Given the description of an element on the screen output the (x, y) to click on. 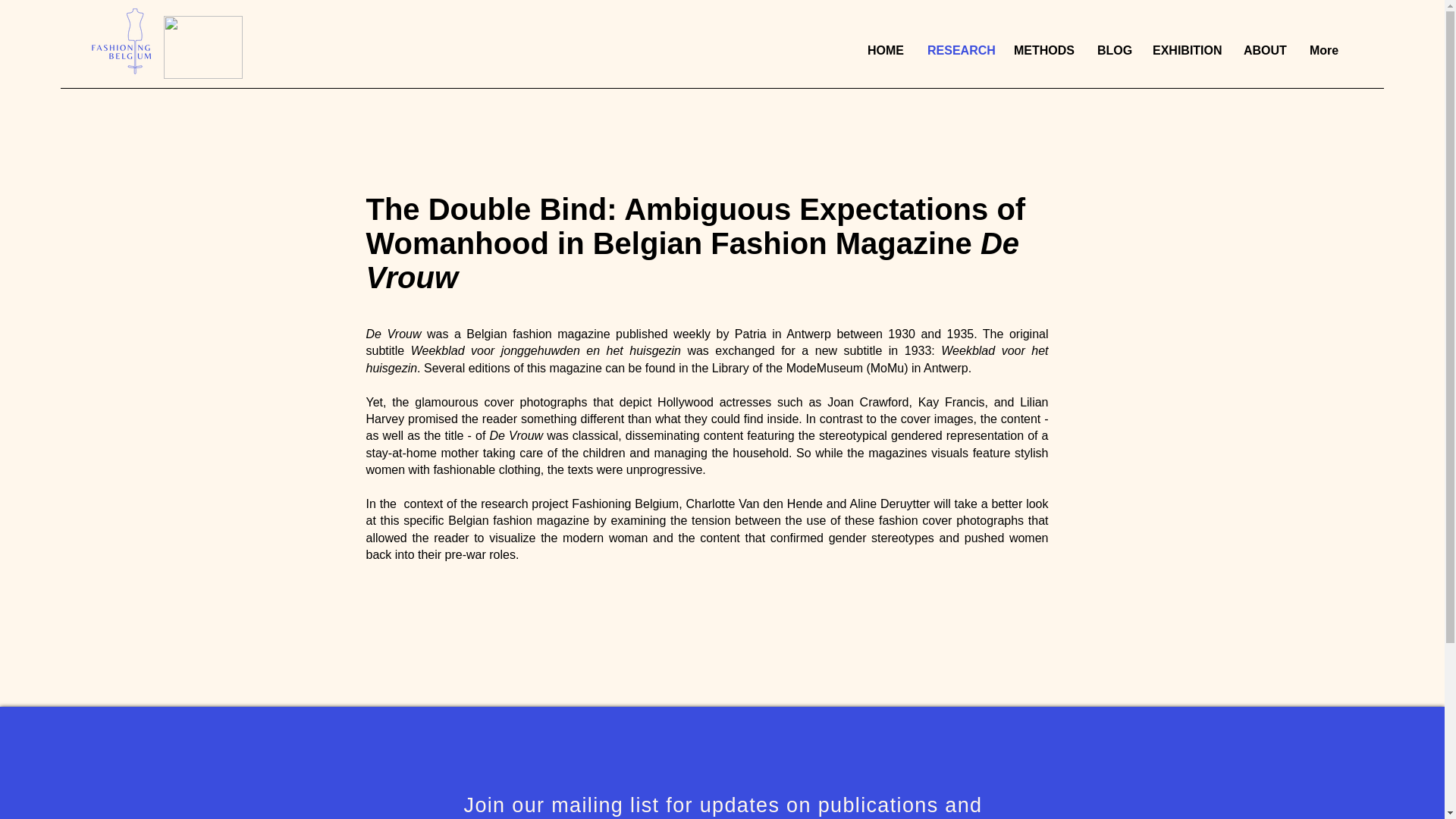
EXHIBITION (1186, 50)
ABOUT (1264, 50)
HOME (885, 50)
RESEARCH (959, 50)
METHODS (1044, 50)
BLOG (1113, 50)
